Given the description of an element on the screen output the (x, y) to click on. 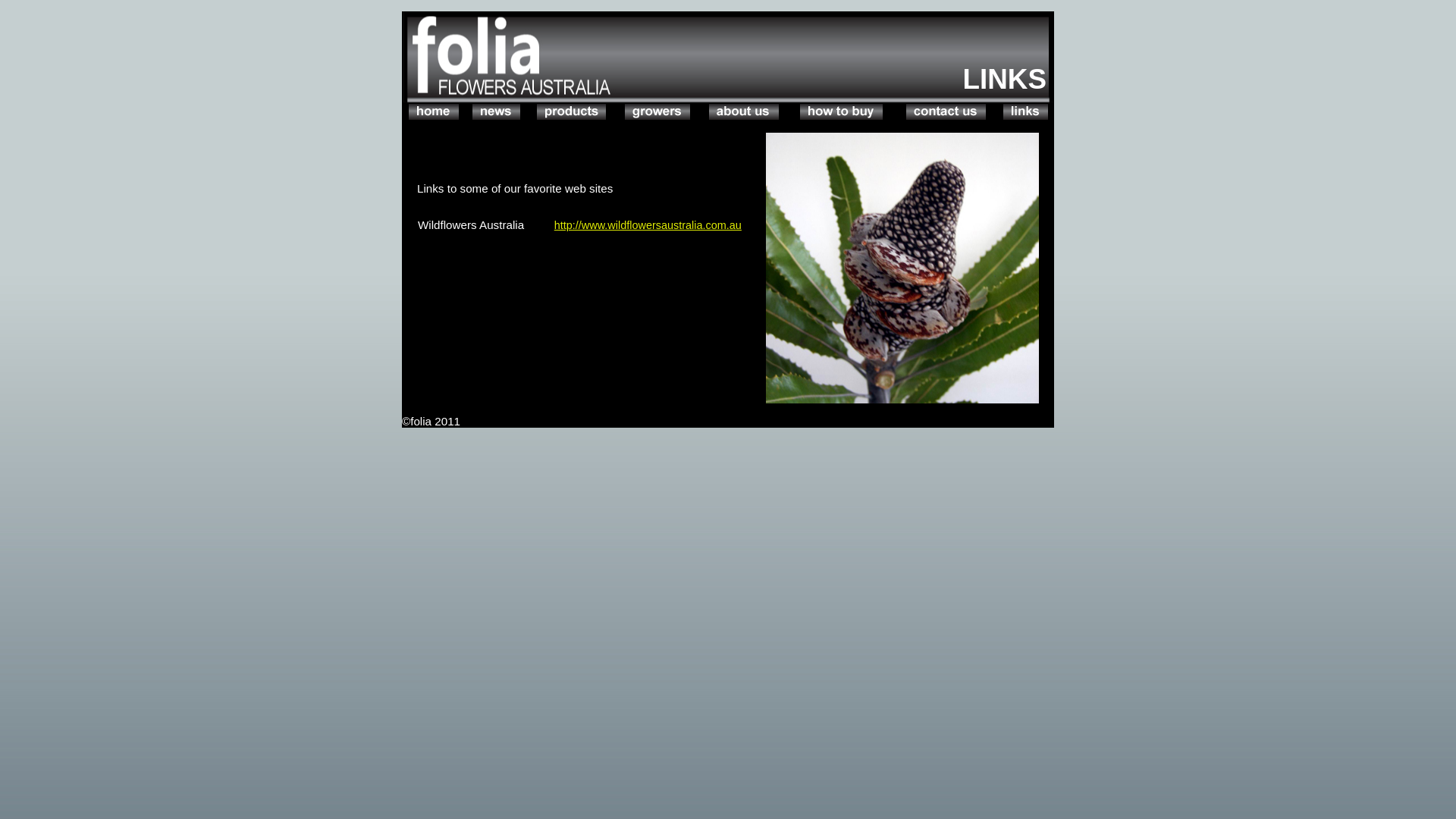
http://www.wildflowersaustralia.com.au Element type: text (647, 225)
